Given the description of an element on the screen output the (x, y) to click on. 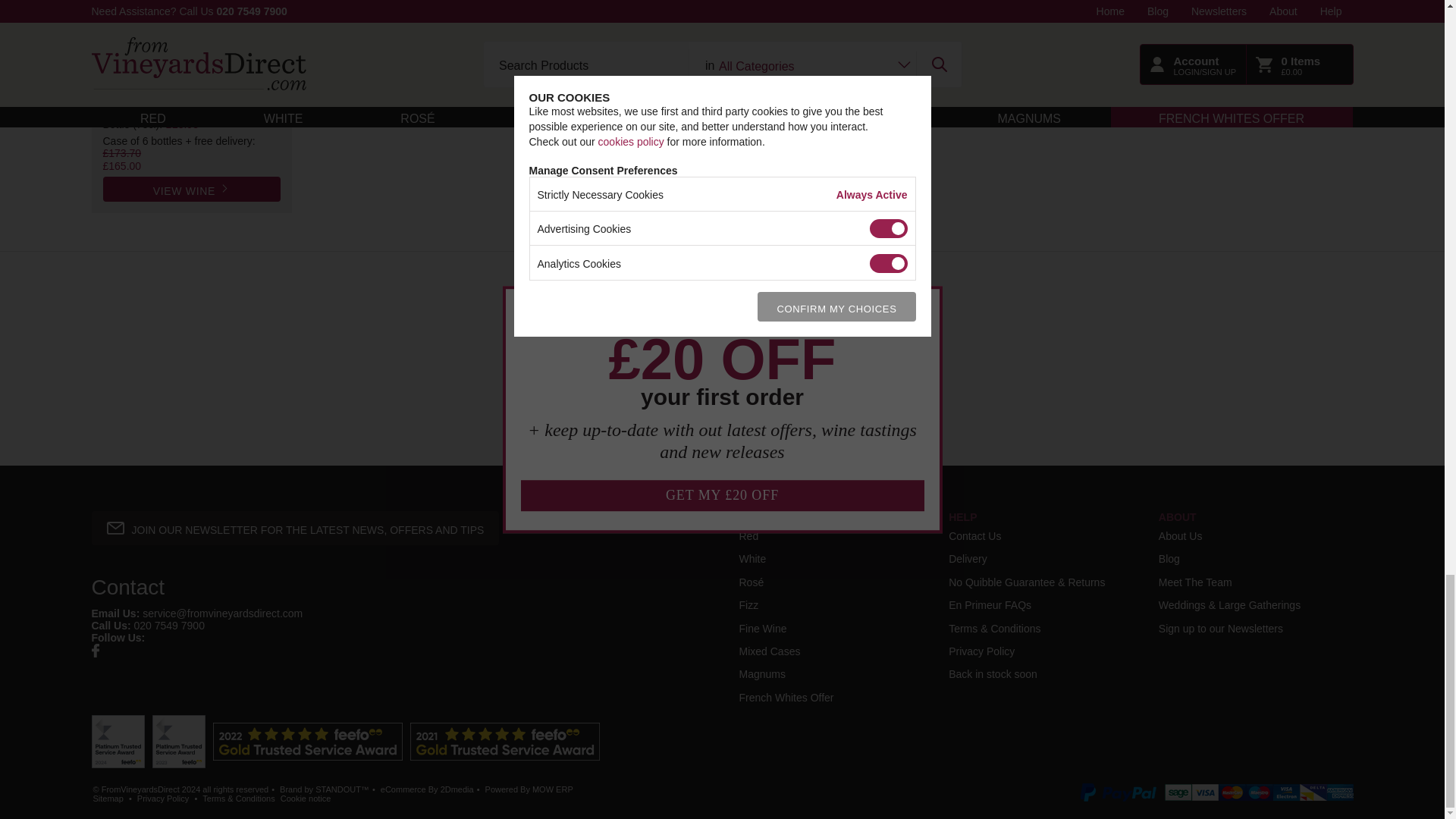
Rioja Gran Reserva, Bodegas Urbina 2004 (192, 90)
Rioja Gran Reserva, Bodegas Urbina 2004 (192, 29)
